Given the description of an element on the screen output the (x, y) to click on. 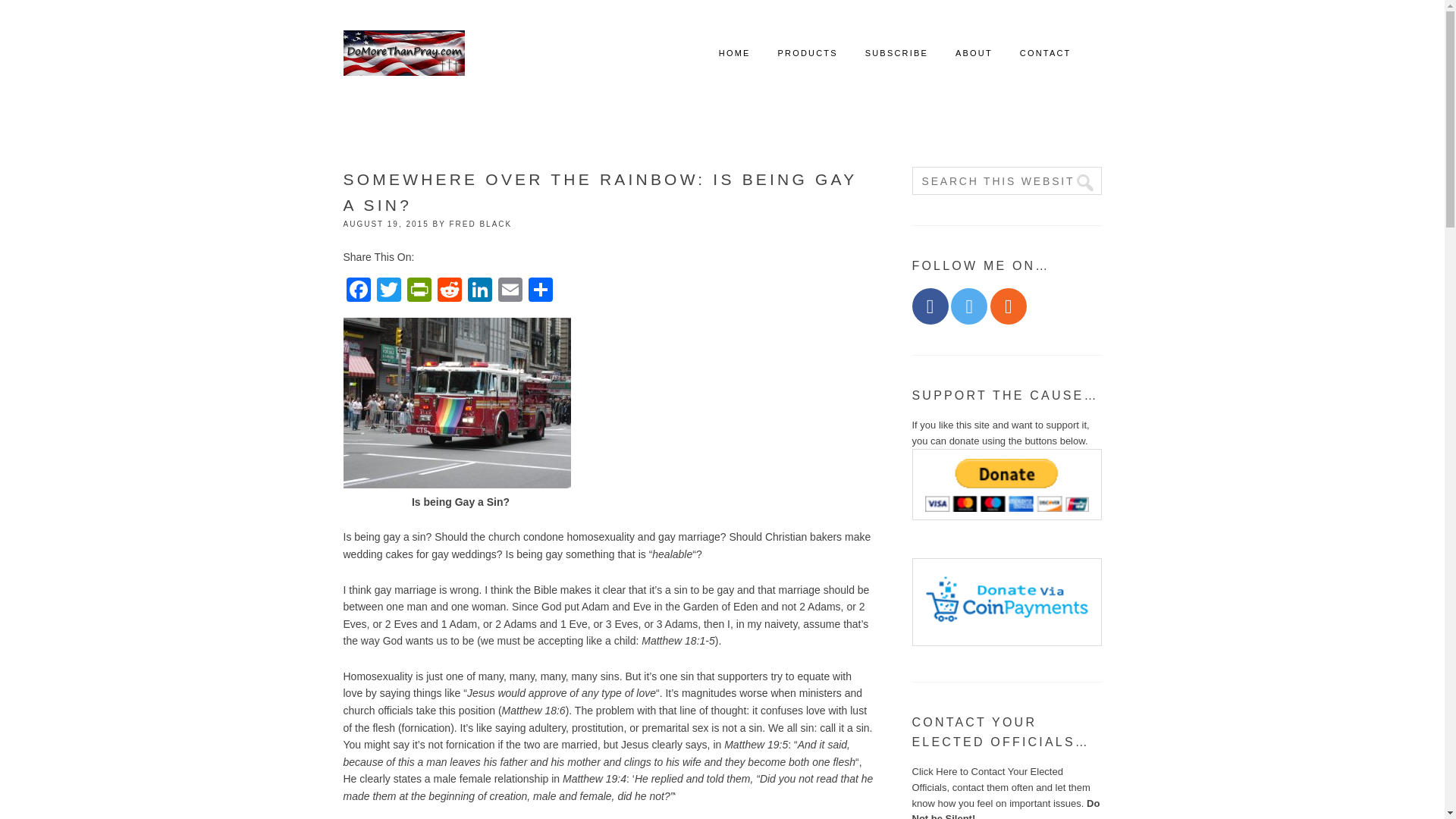
Search (1078, 183)
PRODUCTS (807, 53)
Twitter (387, 291)
CONTACT (1045, 53)
DO MORE THAN PRAY (403, 53)
Search (1078, 183)
Reddit (448, 291)
Email (509, 291)
Facebook (929, 306)
LinkedIn (479, 291)
